Given the description of an element on the screen output the (x, y) to click on. 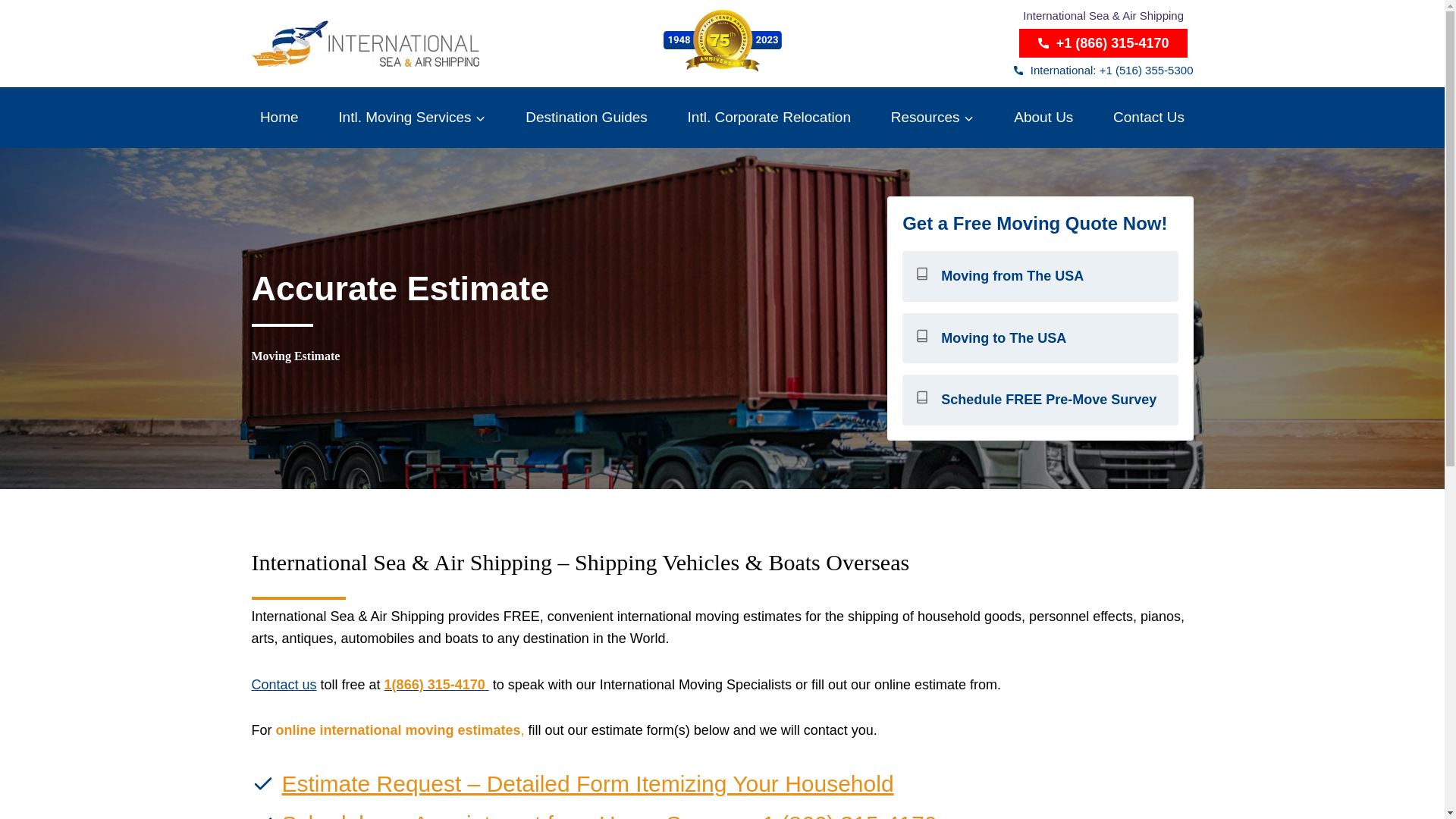
Moving to The USA (1039, 337)
Destination Guides (586, 117)
About Us (1043, 117)
Intl. Moving Services (412, 117)
Home (279, 117)
Contact Us (1149, 117)
Resources (932, 117)
us (307, 684)
Moving from The USA (1039, 276)
Schedule FREE Pre-Move Survey (1039, 399)
Contact (274, 684)
Intl. Corporate Relocation (768, 117)
